Given the description of an element on the screen output the (x, y) to click on. 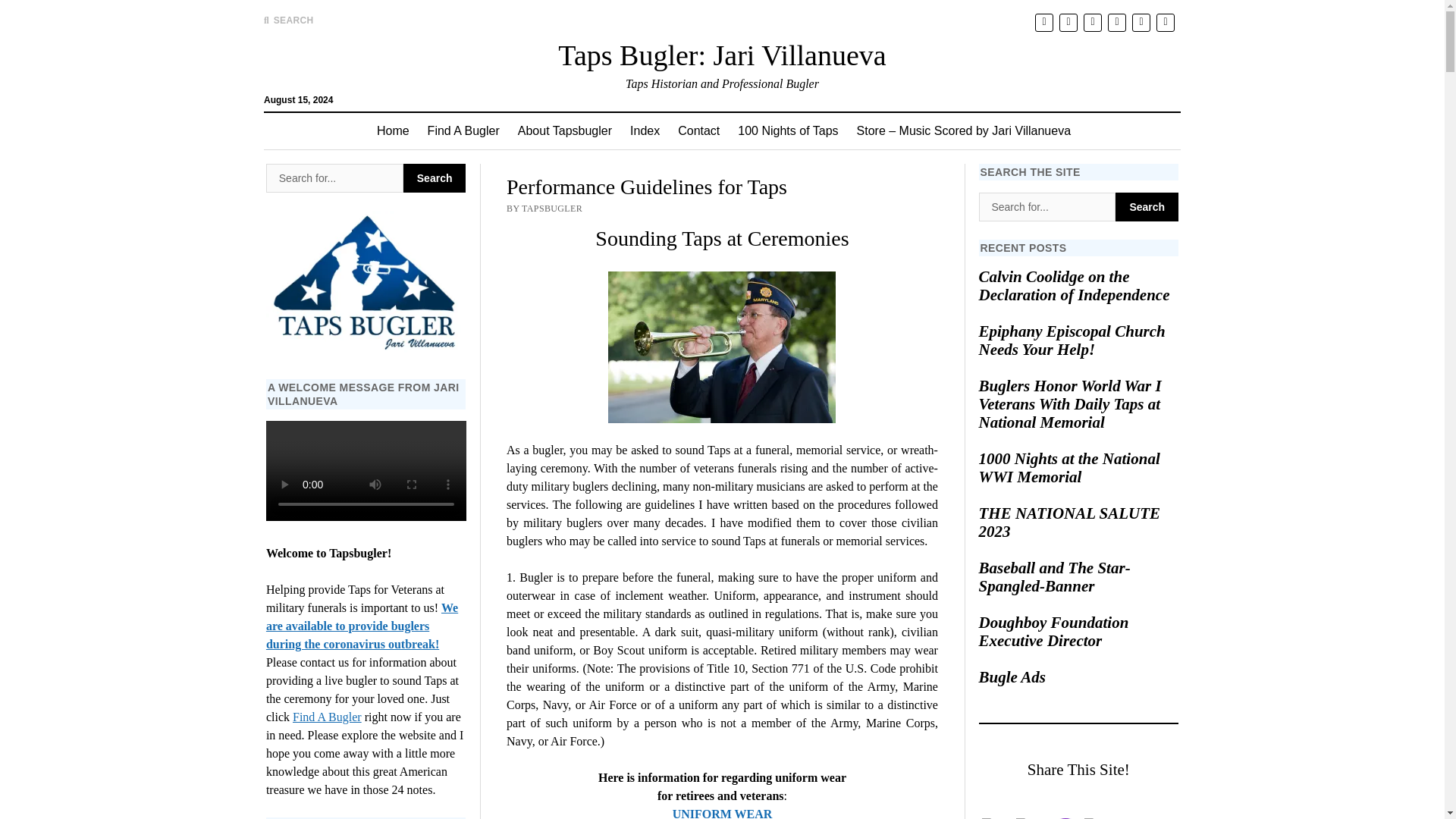
Search (434, 177)
About Tapsbugler (564, 131)
Search (434, 177)
Home (393, 131)
Search (1146, 206)
Search (945, 129)
Taps Bugler: Jari Villanueva (721, 55)
100 Nights of Taps (788, 131)
Contact (698, 131)
Find A Bugler (463, 131)
